Given the description of an element on the screen output the (x, y) to click on. 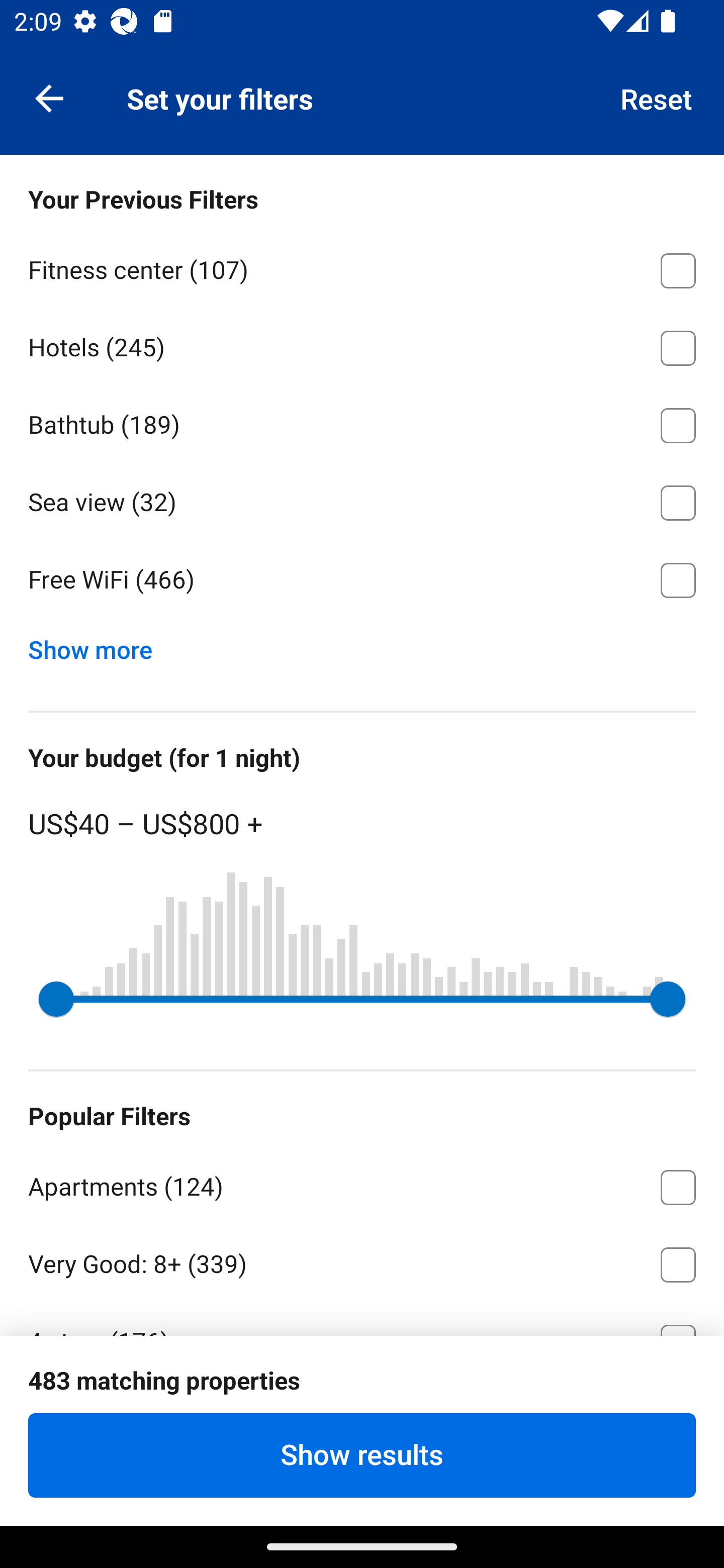
Navigate up (49, 97)
Reset (656, 97)
Fitness center ⁦(107) (361, 266)
Hotels ⁦(245) (361, 344)
Bathtub ⁦(189) (361, 422)
Sea view ⁦(32) (361, 498)
Free WiFi ⁦(466) (361, 579)
Show more (97, 645)
40.0 Range start,US$40 800.0 Range end,US$800 + (361, 998)
Apartments ⁦(124) (361, 1183)
Very Good: 8+ ⁦(339) (361, 1261)
Show results (361, 1454)
